Given the description of an element on the screen output the (x, y) to click on. 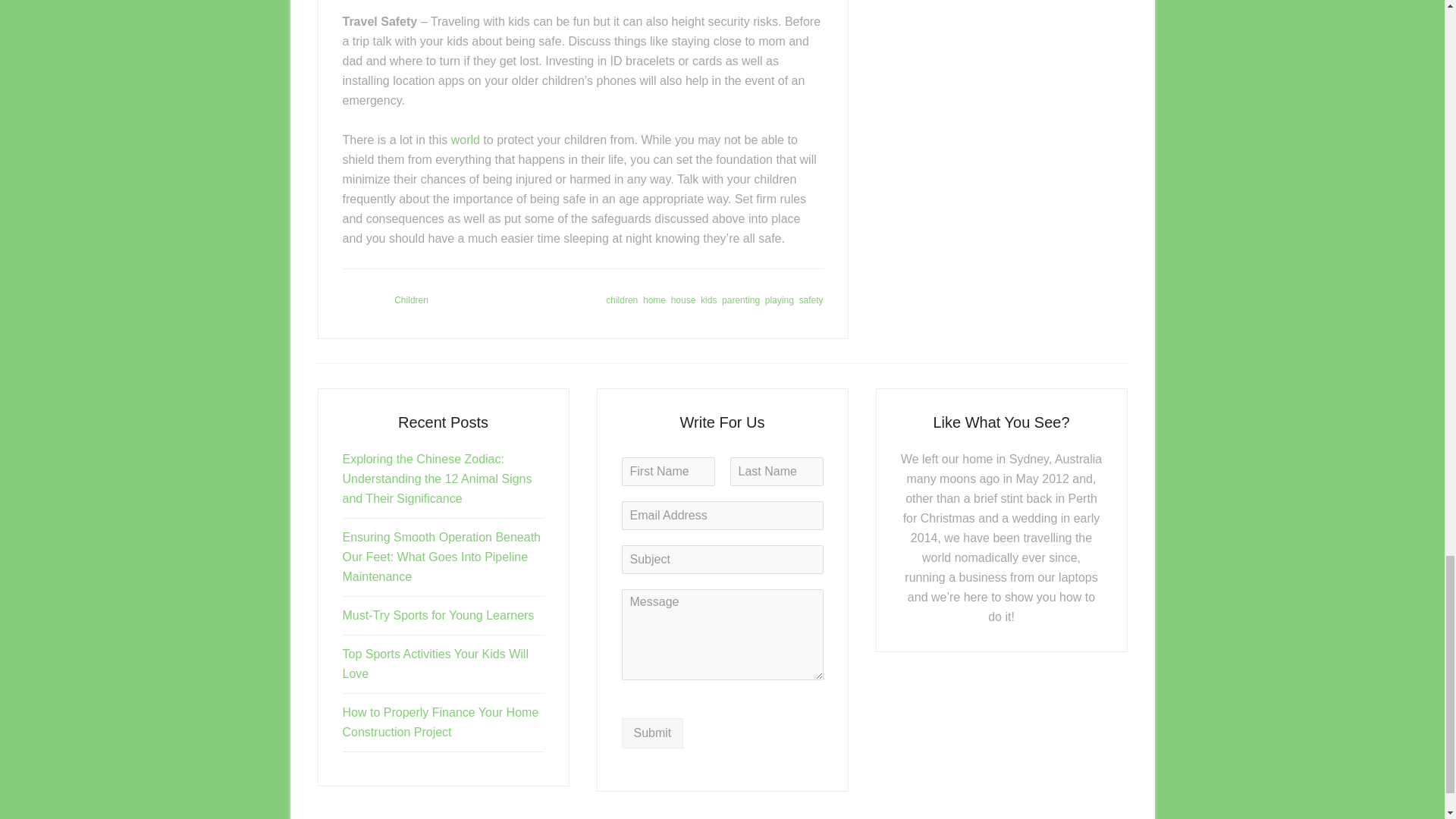
world (467, 139)
How to Properly Finance Your Home Construction Project (440, 721)
Children (411, 299)
house (683, 299)
Submit (652, 733)
Top Sports Activities Your Kids Will Love (435, 663)
safety (809, 299)
parenting (741, 299)
Must-Try Sports for Young Learners (438, 615)
